Given the description of an element on the screen output the (x, y) to click on. 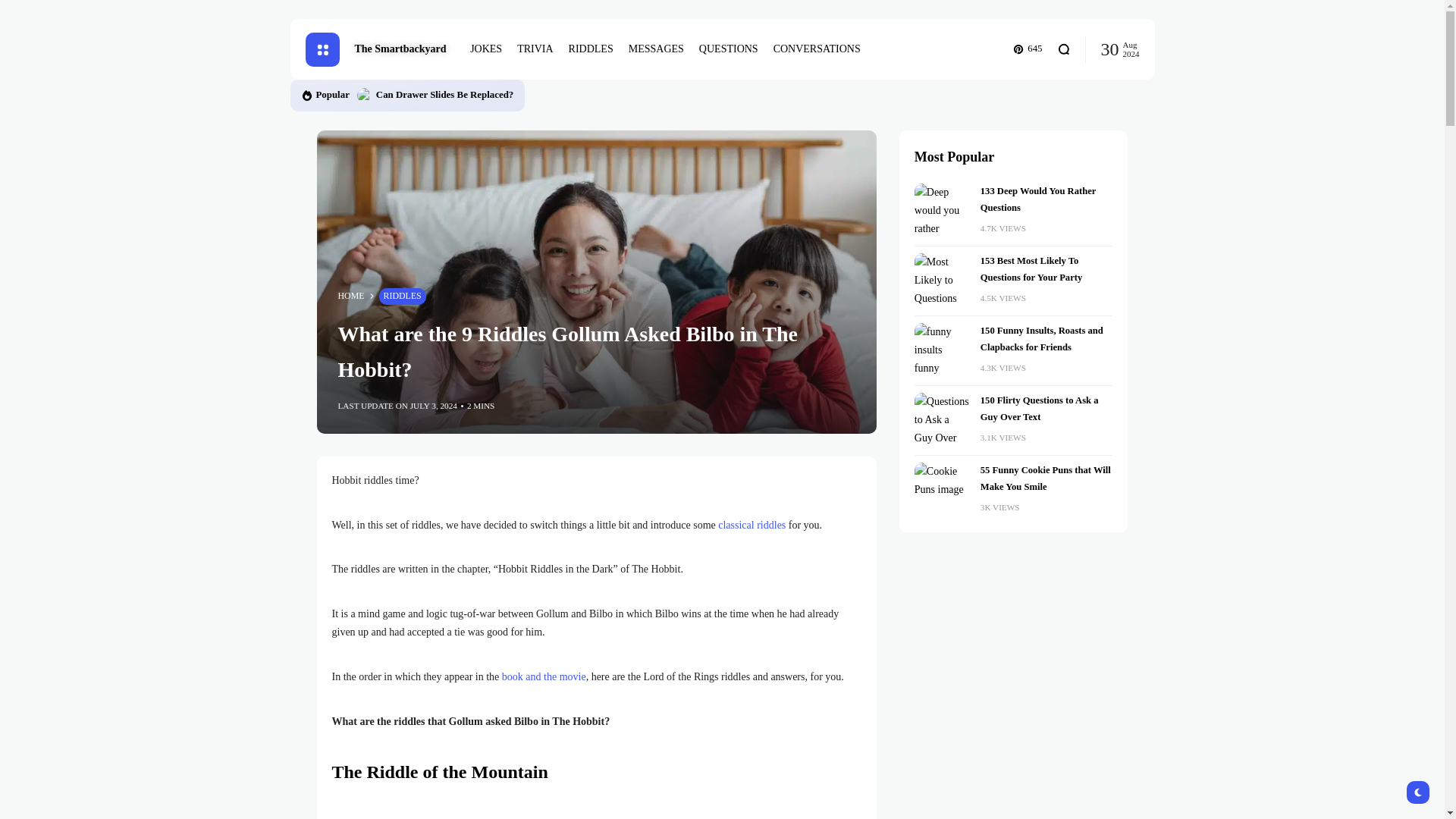
QUESTIONS (728, 48)
MESSAGES (656, 48)
book and the movie (544, 676)
classical riddles (751, 524)
Can Drawer Slides Be Replaced? (444, 94)
HOME (351, 296)
CONVERSATIONS (816, 48)
645 (1027, 48)
The Smartbackyard (401, 49)
RIDDLES (402, 296)
